Given the description of an element on the screen output the (x, y) to click on. 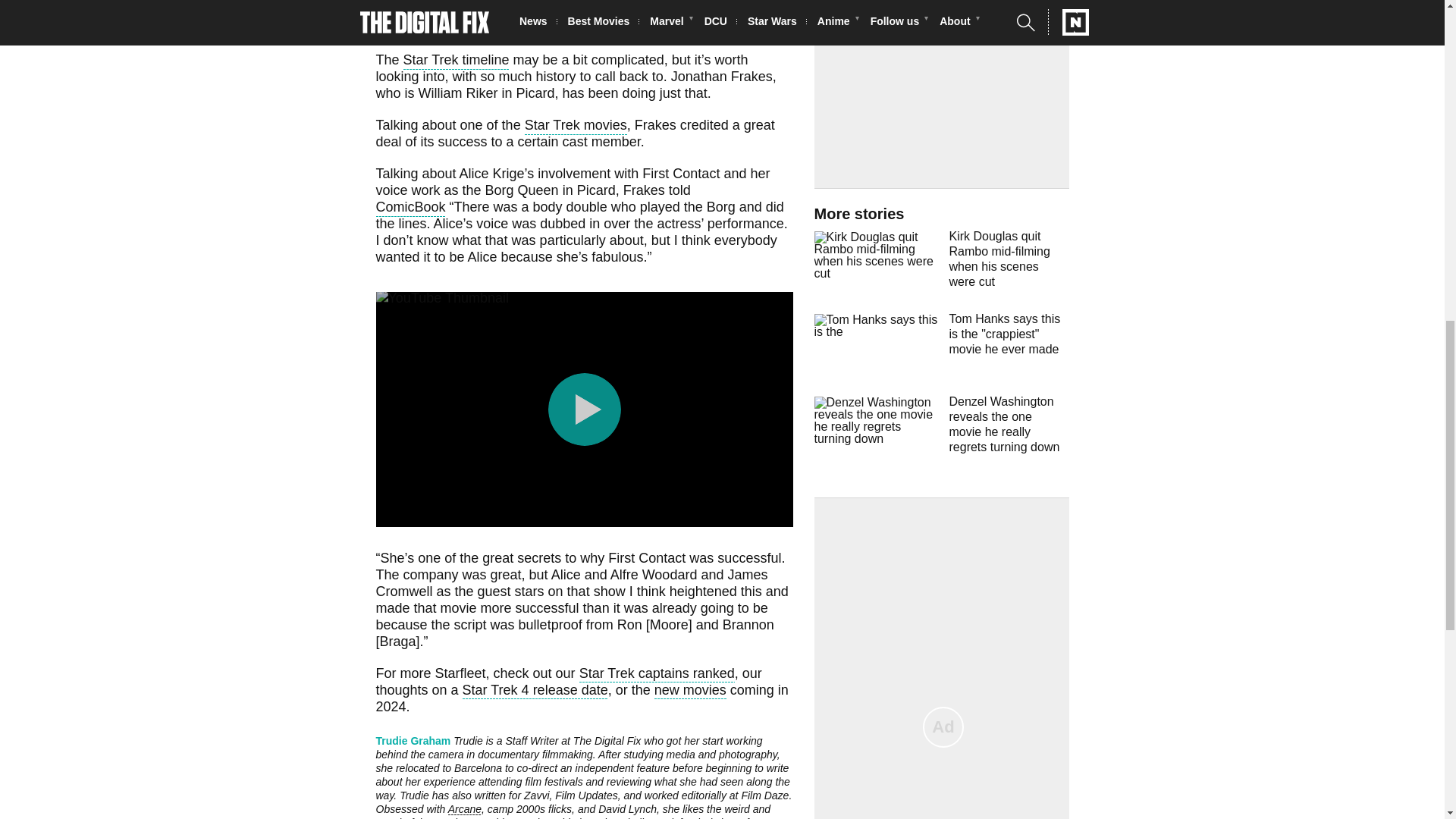
Star Trek movies (575, 126)
Star Trek timeline (456, 61)
best streaming services (447, 2)
